Given the description of an element on the screen output the (x, y) to click on. 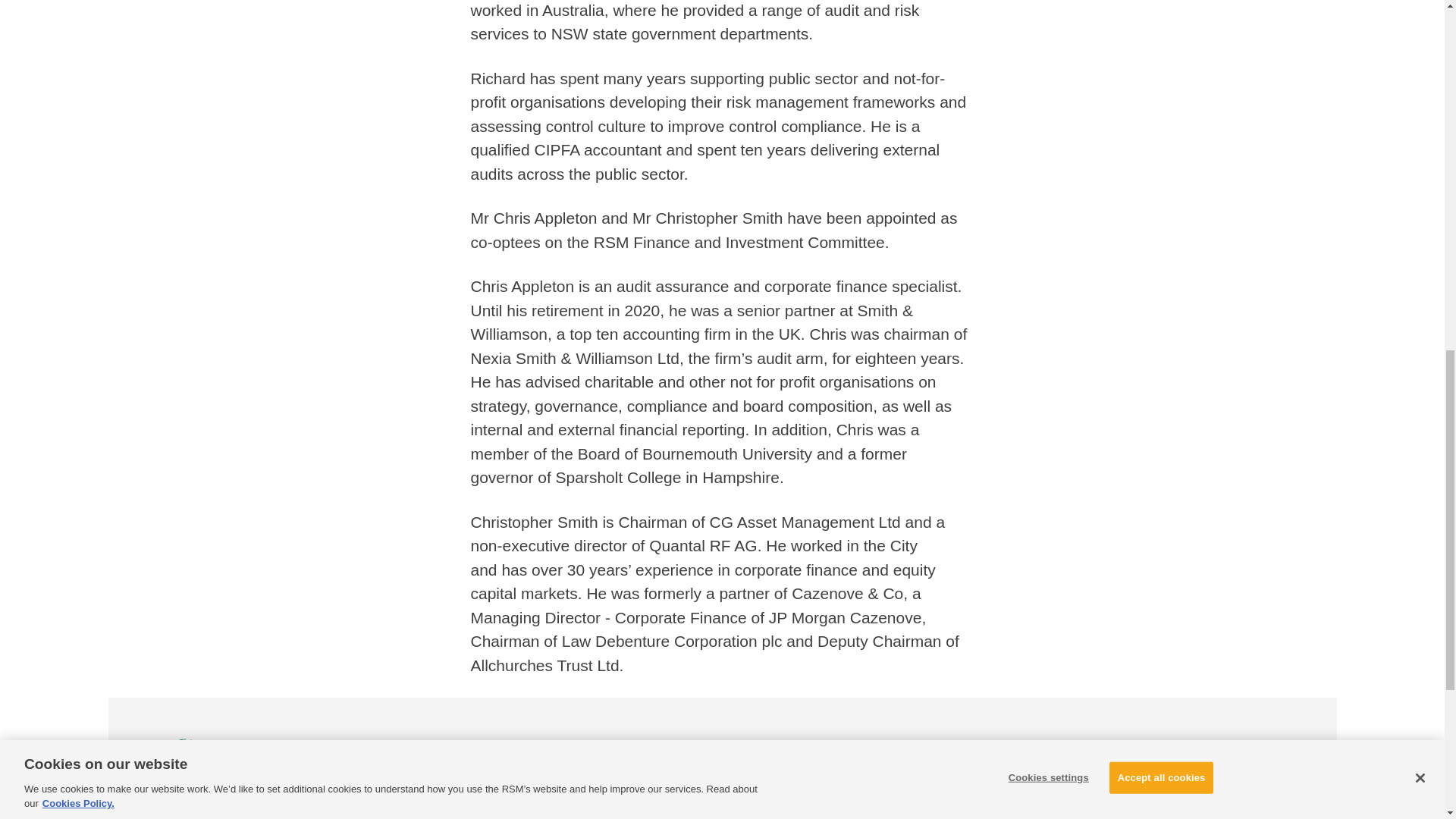
Joining the RSM (774, 814)
1 Wimpole Street (924, 814)
About the RSM (579, 814)
Visiting the RSM (452, 814)
